Given the description of an element on the screen output the (x, y) to click on. 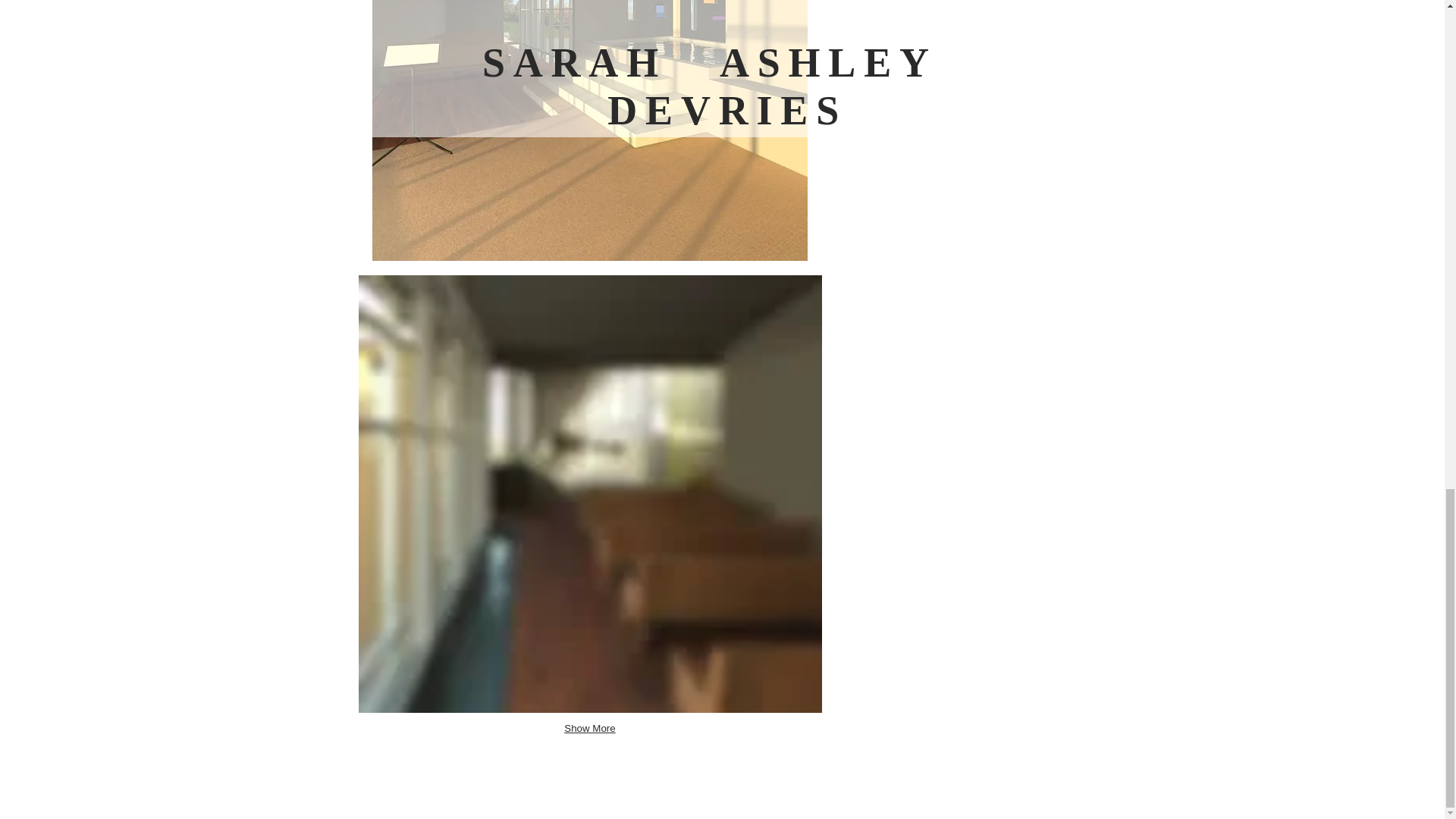
Show More (589, 729)
